Given the description of an element on the screen output the (x, y) to click on. 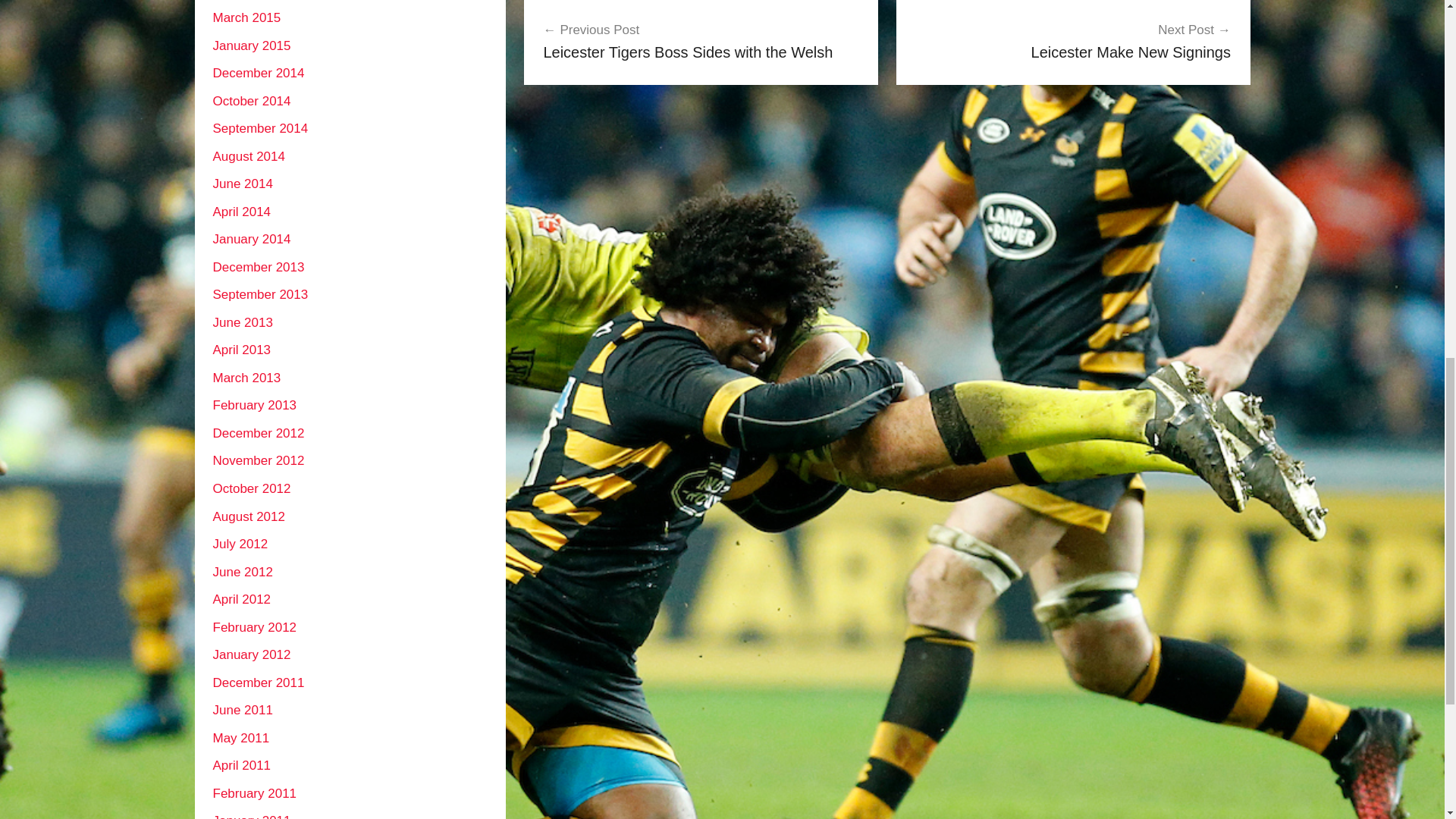
October 2014 (250, 101)
December 2014 (258, 73)
December 2013 (258, 267)
September 2013 (259, 294)
April 2014 (241, 211)
June 2014 (1072, 40)
August 2014 (242, 183)
January 2015 (701, 40)
